Given the description of an element on the screen output the (x, y) to click on. 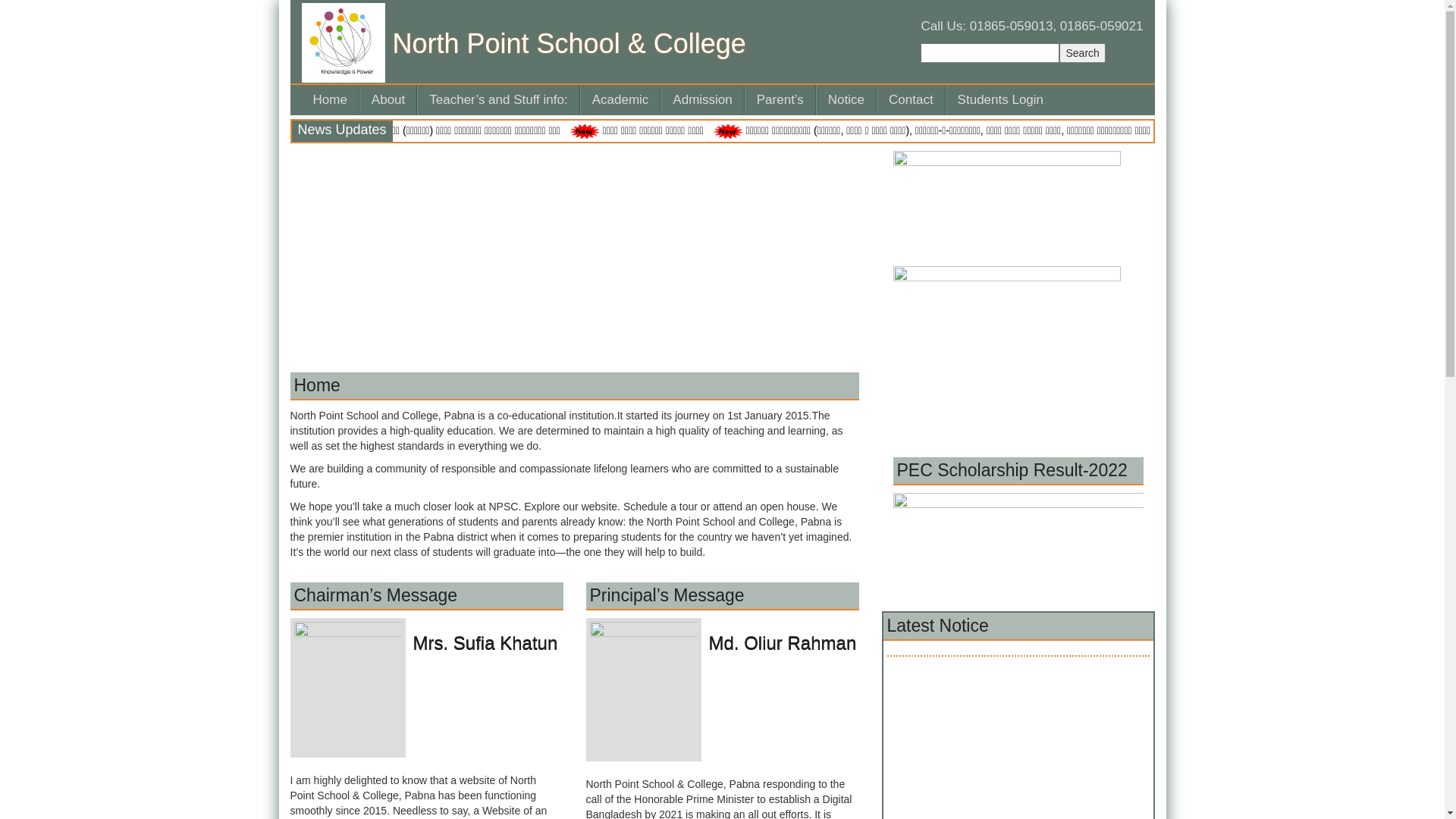
Admission Element type: text (702, 99)
Notice Element type: text (845, 99)
About Element type: text (388, 99)
Search Element type: text (1081, 52)
Contact Element type: text (910, 99)
North Point School & College Element type: text (578, 47)
Academic Element type: text (620, 99)
Home Element type: text (329, 99)
Md. Oliur Rahman Element type: text (721, 642)
Mrs. Sufia Khatun Element type: text (425, 642)
Students Login Element type: text (1000, 99)
